Given the description of an element on the screen output the (x, y) to click on. 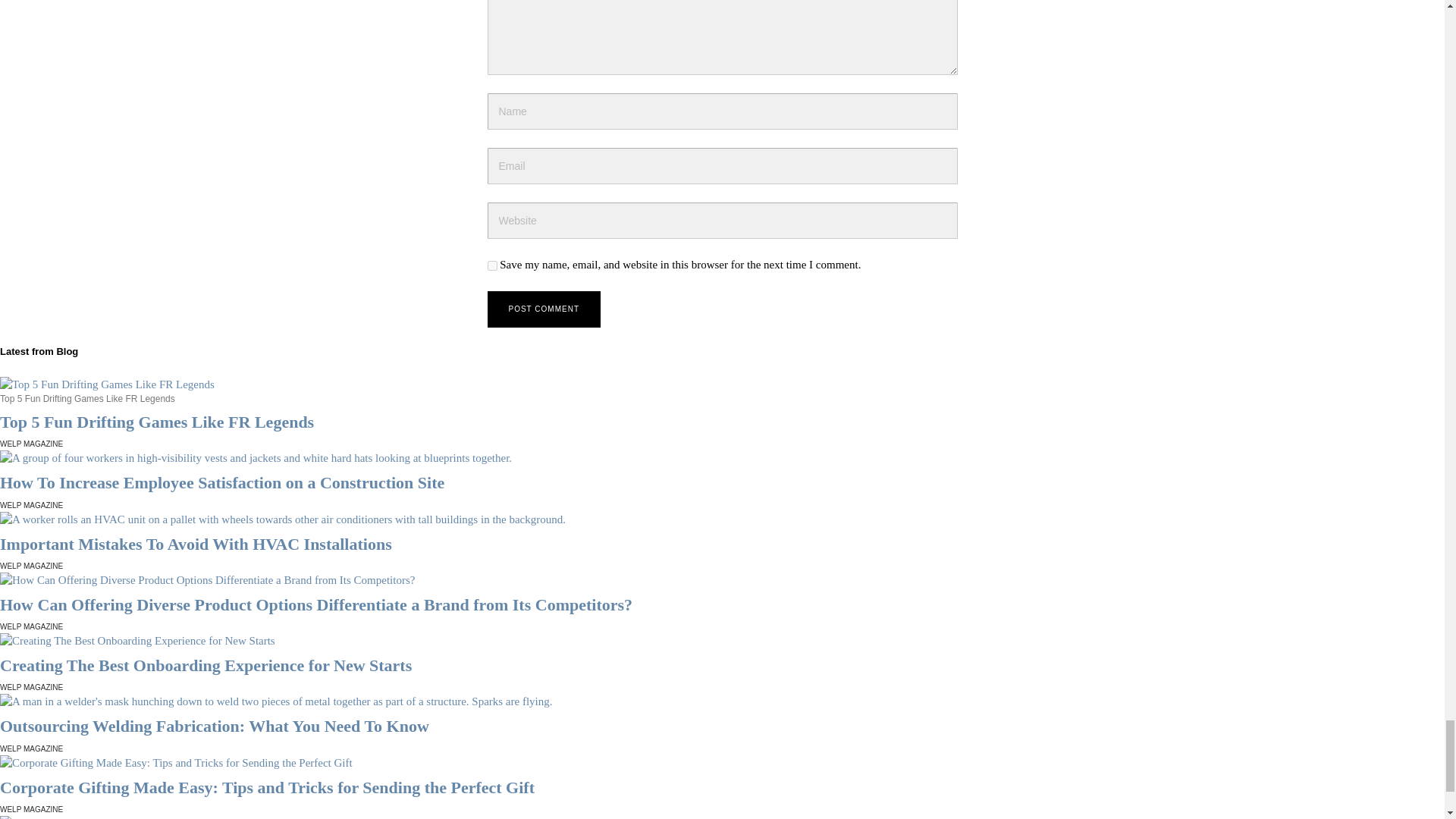
yes (491, 266)
Post Comment (542, 309)
